Given the description of an element on the screen output the (x, y) to click on. 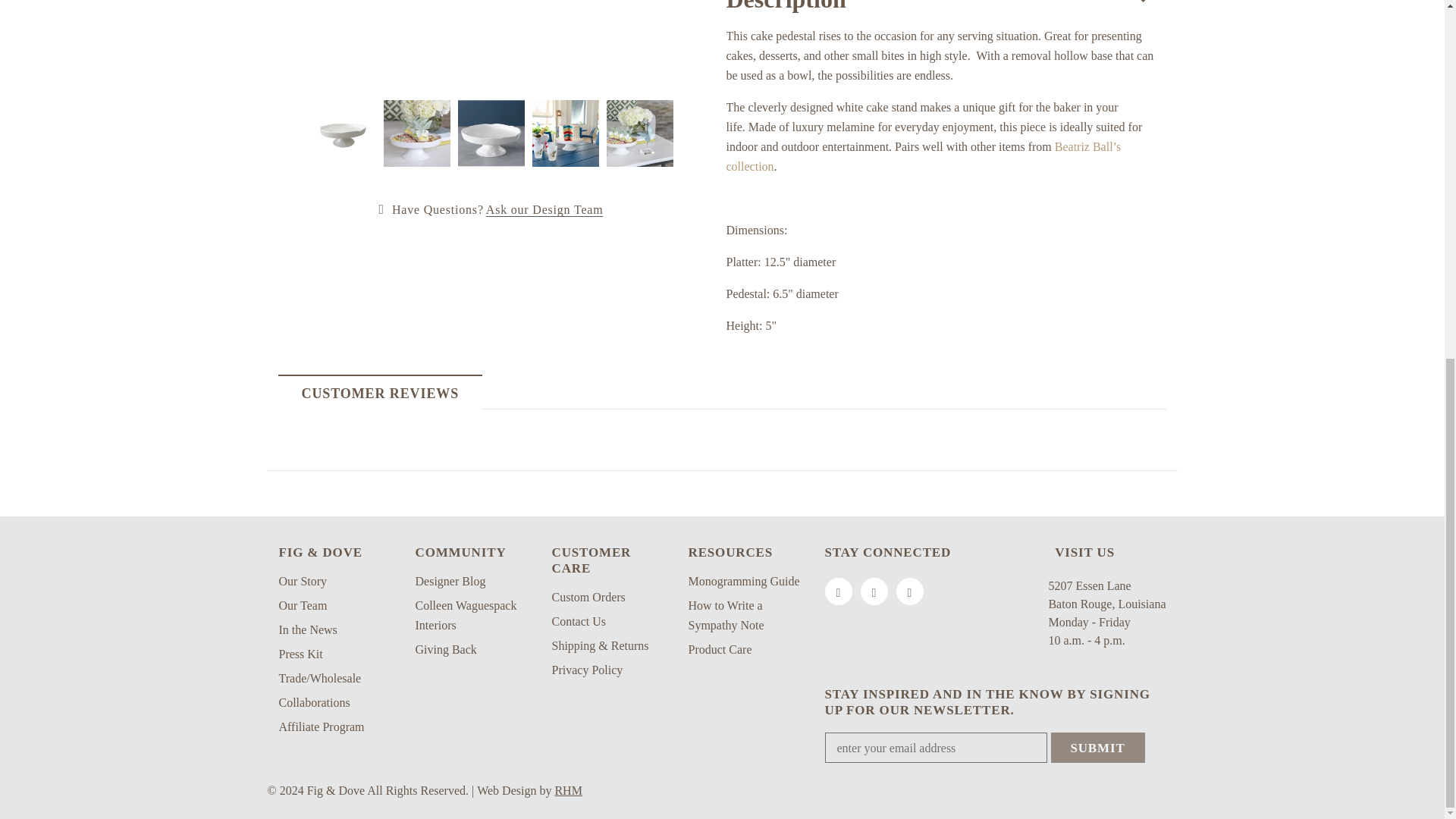
Submit (1097, 747)
